Given the description of an element on the screen output the (x, y) to click on. 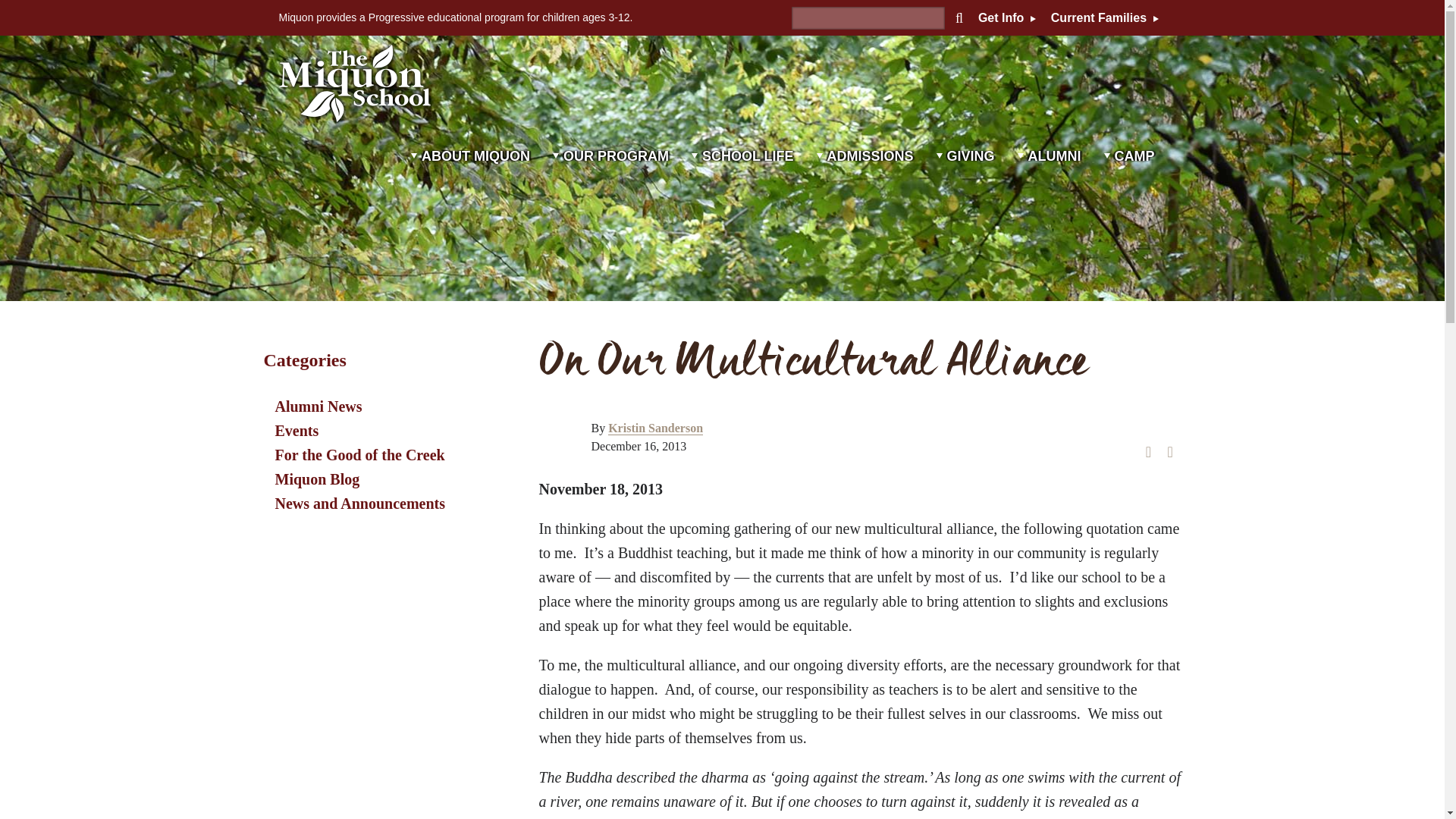
ABOUT MIQUON (469, 175)
View all posts by Kristin Sanderson (655, 427)
Get Info (1006, 17)
The Miquon School (354, 83)
OUR PROGRAM (610, 175)
